Given the description of an element on the screen output the (x, y) to click on. 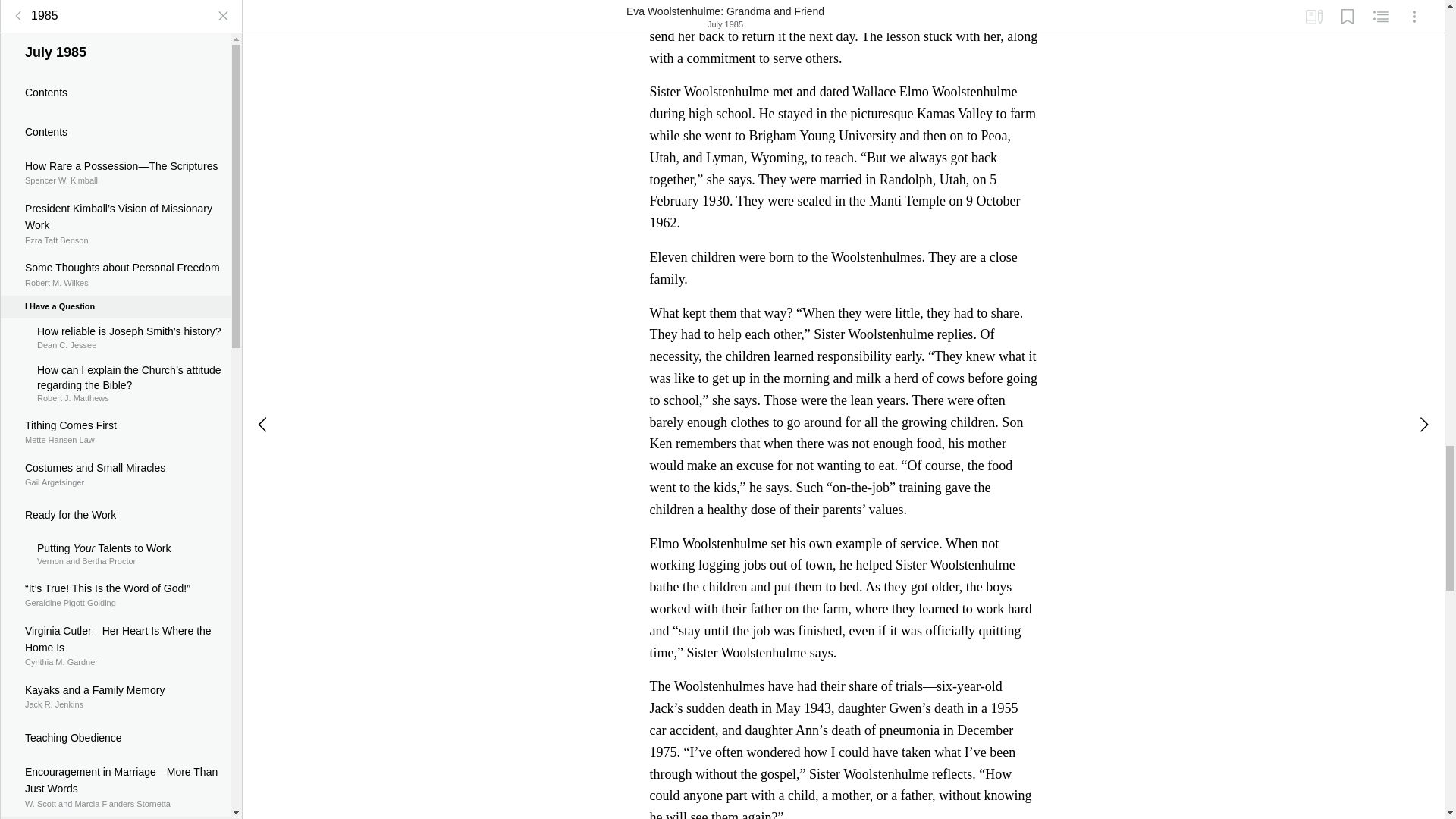
Fireside Commemorates Aaronic Priesthood Restoration (115, 811)
Comment (115, 535)
